Given the description of an element on the screen output the (x, y) to click on. 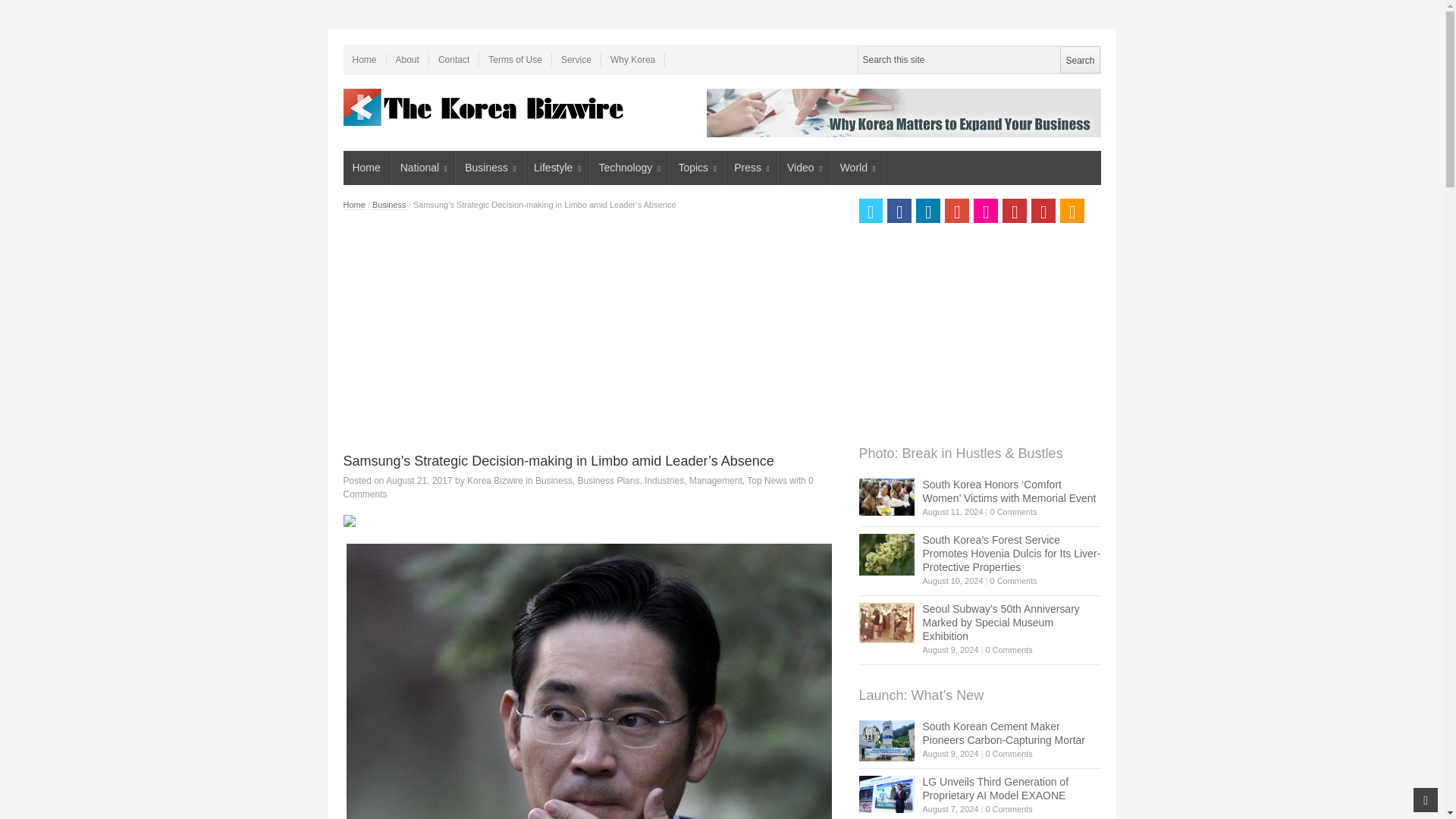
About (408, 59)
Service (576, 59)
View all posts in Business (553, 480)
Why Korea (633, 59)
12:49 am (418, 480)
Print page (592, 521)
Business (489, 167)
View all posts by Korea Bizwire (494, 480)
Terms of Use (515, 59)
Be Korea-savvy (484, 107)
